Given the description of an element on the screen output the (x, y) to click on. 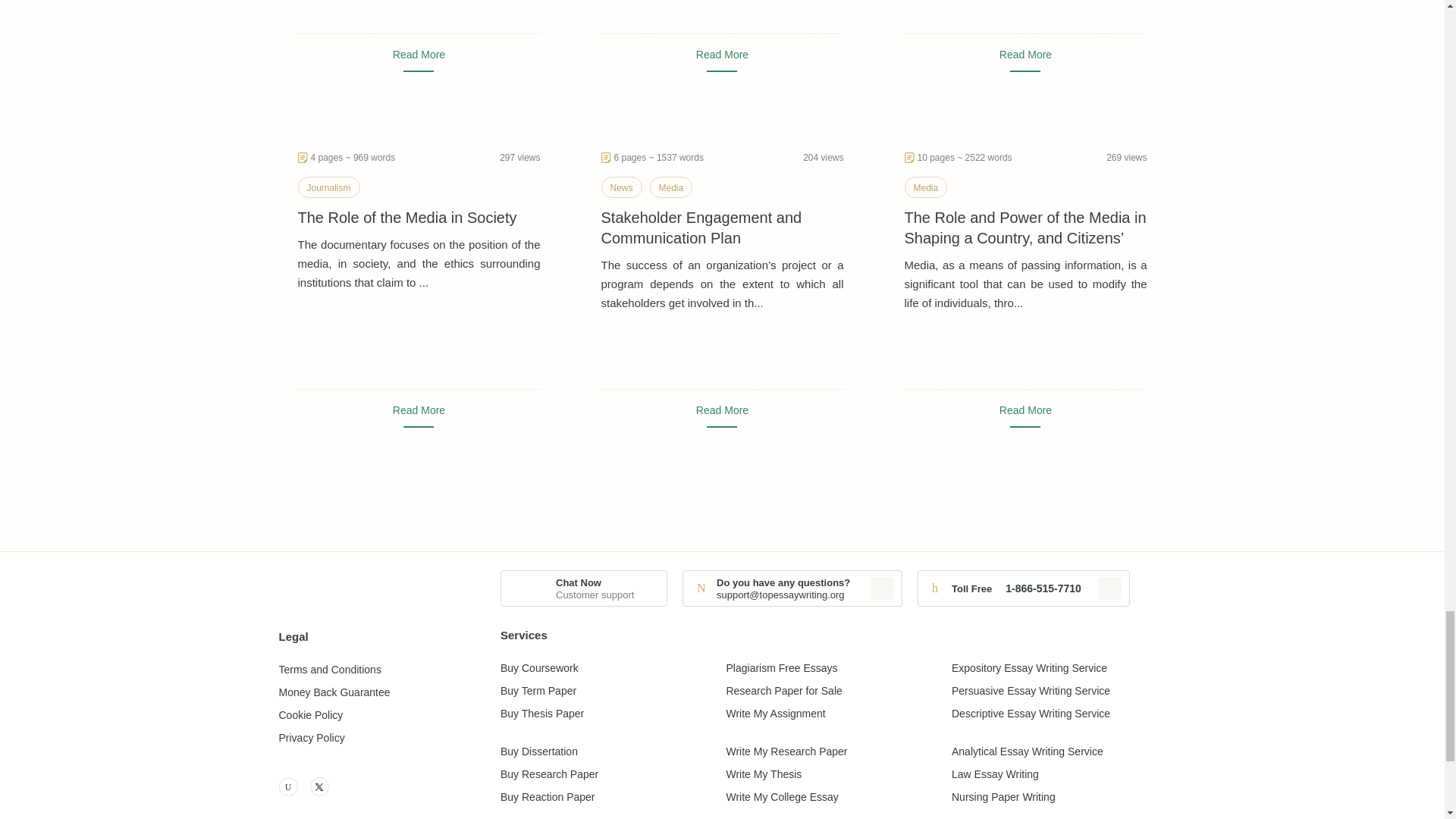
Copied to clipboard (881, 588)
Copied to clipboard (1110, 588)
